Given the description of an element on the screen output the (x, y) to click on. 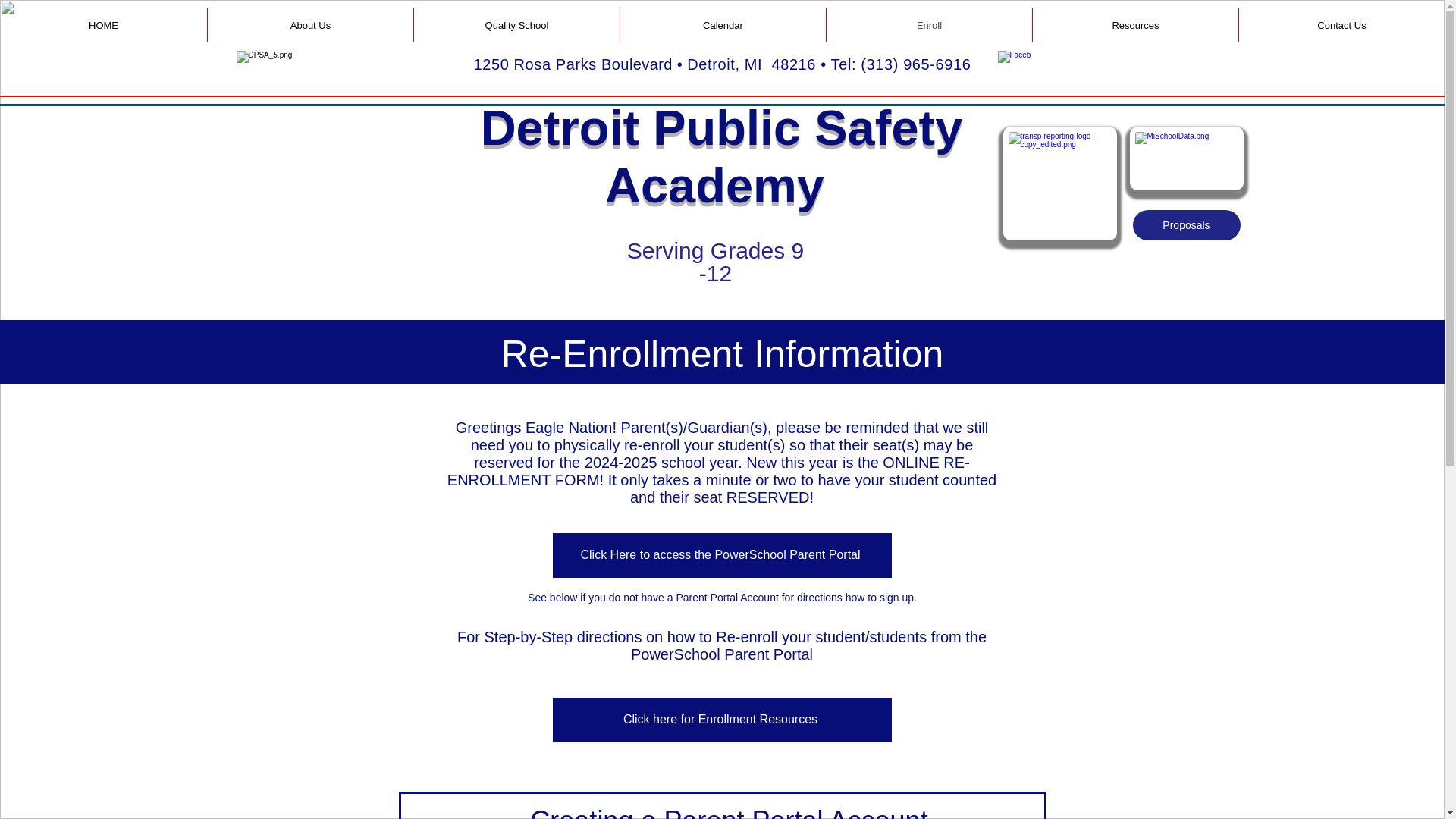
Click Here to access the PowerSchool Parent Portal (721, 555)
Click here for Enrollment Resources (721, 719)
Quality School (516, 25)
HOME (103, 25)
Enroll (928, 25)
Resources (1135, 25)
Proposals (1186, 224)
Calendar (722, 25)
